Given the description of an element on the screen output the (x, y) to click on. 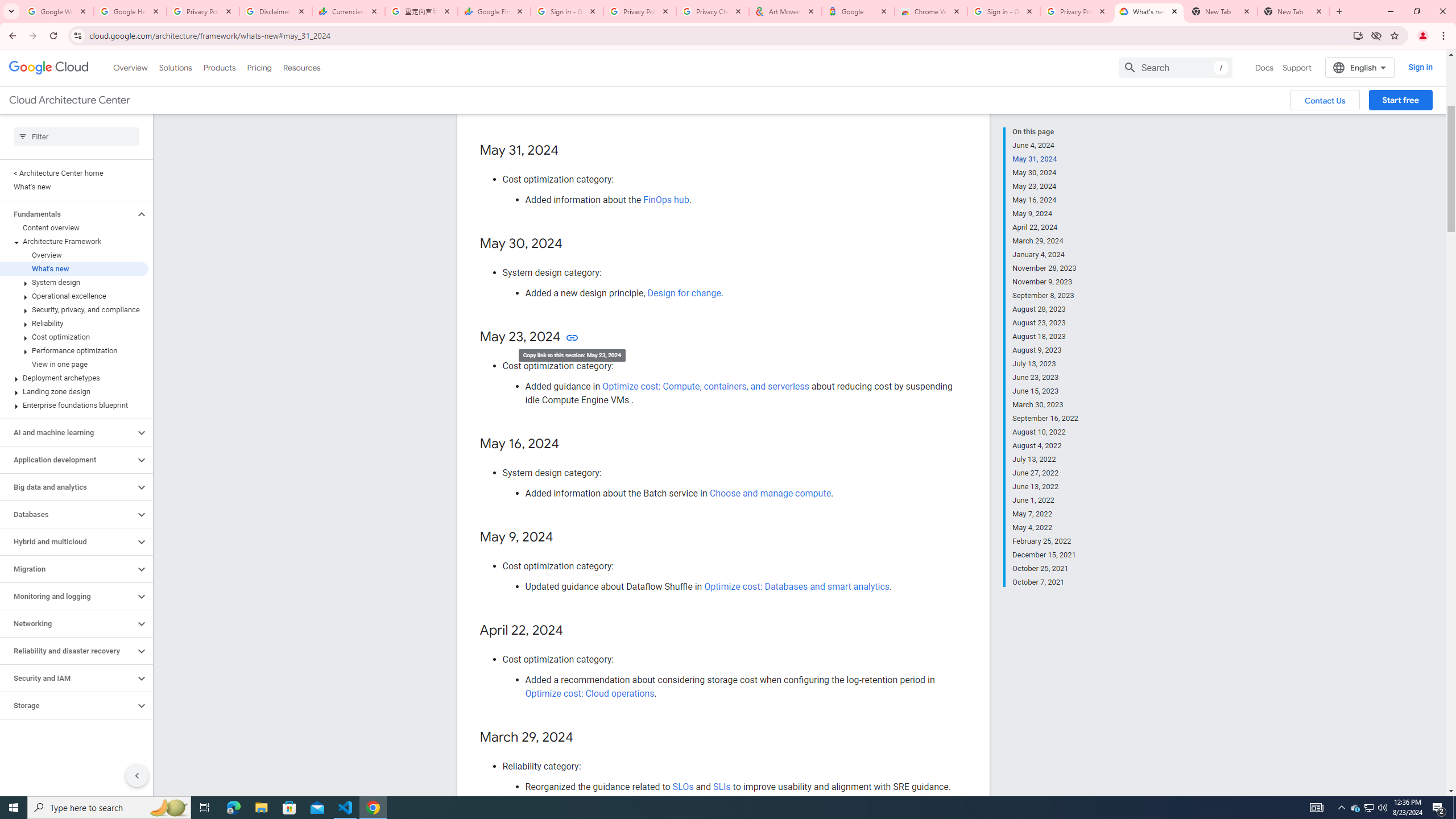
Copy link to this section: April 22, 2024 (574, 631)
November 28, 2023 (1044, 268)
Performance optimization (74, 350)
Cost optimization (74, 336)
Databases (67, 514)
August 28, 2023 (1044, 309)
Choose and manage compute (770, 493)
March 30, 2023 (1044, 404)
Optimize cost: Cloud operations (590, 692)
Migration (67, 568)
Copy link to this section: May 23, 2024 (571, 337)
Operational excellence (74, 296)
Networking (67, 623)
